Given the description of an element on the screen output the (x, y) to click on. 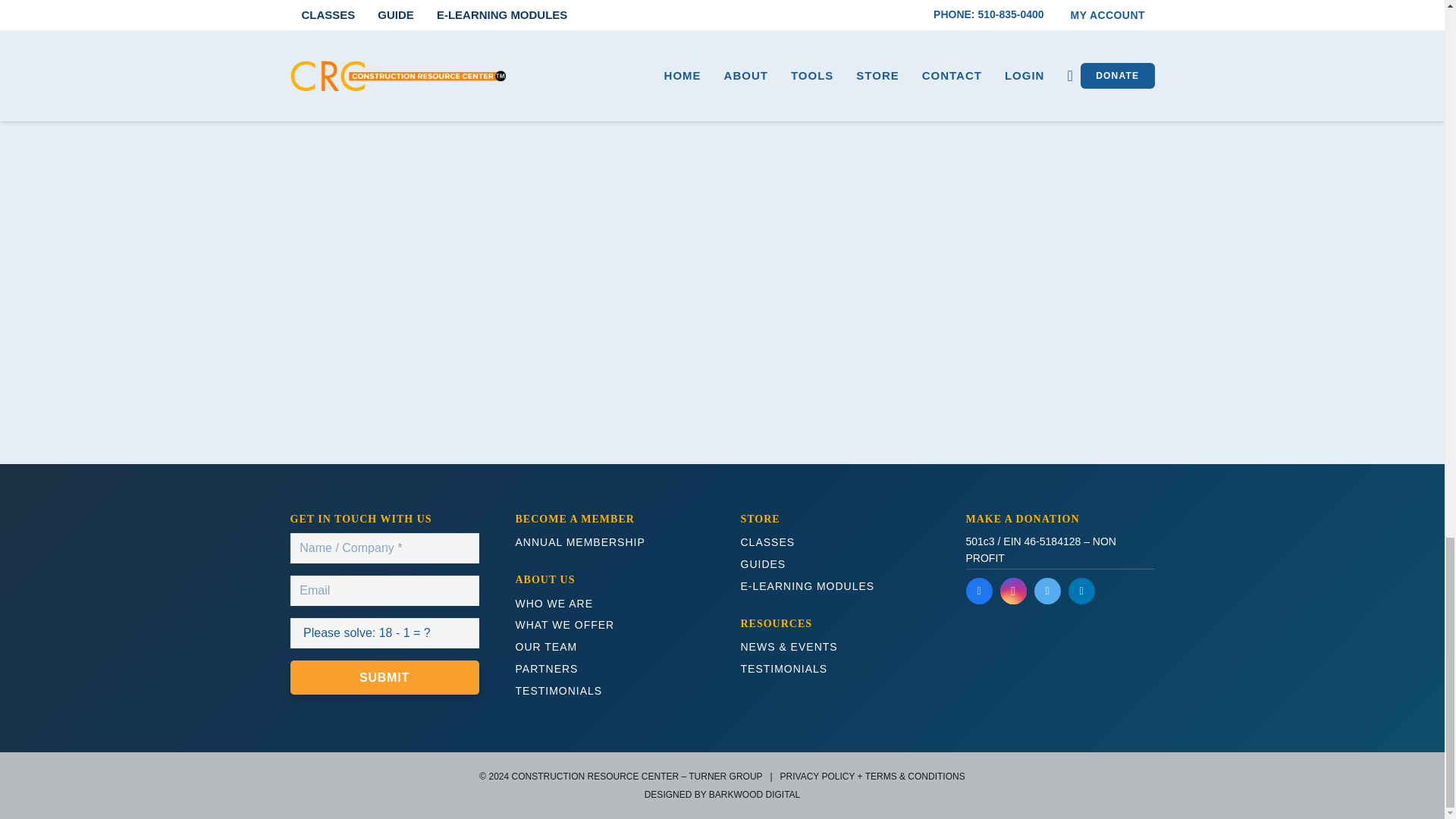
Instagram (1012, 591)
Twitter (1047, 591)
LinkedIn (1080, 591)
Facebook (979, 591)
